Given the description of an element on the screen output the (x, y) to click on. 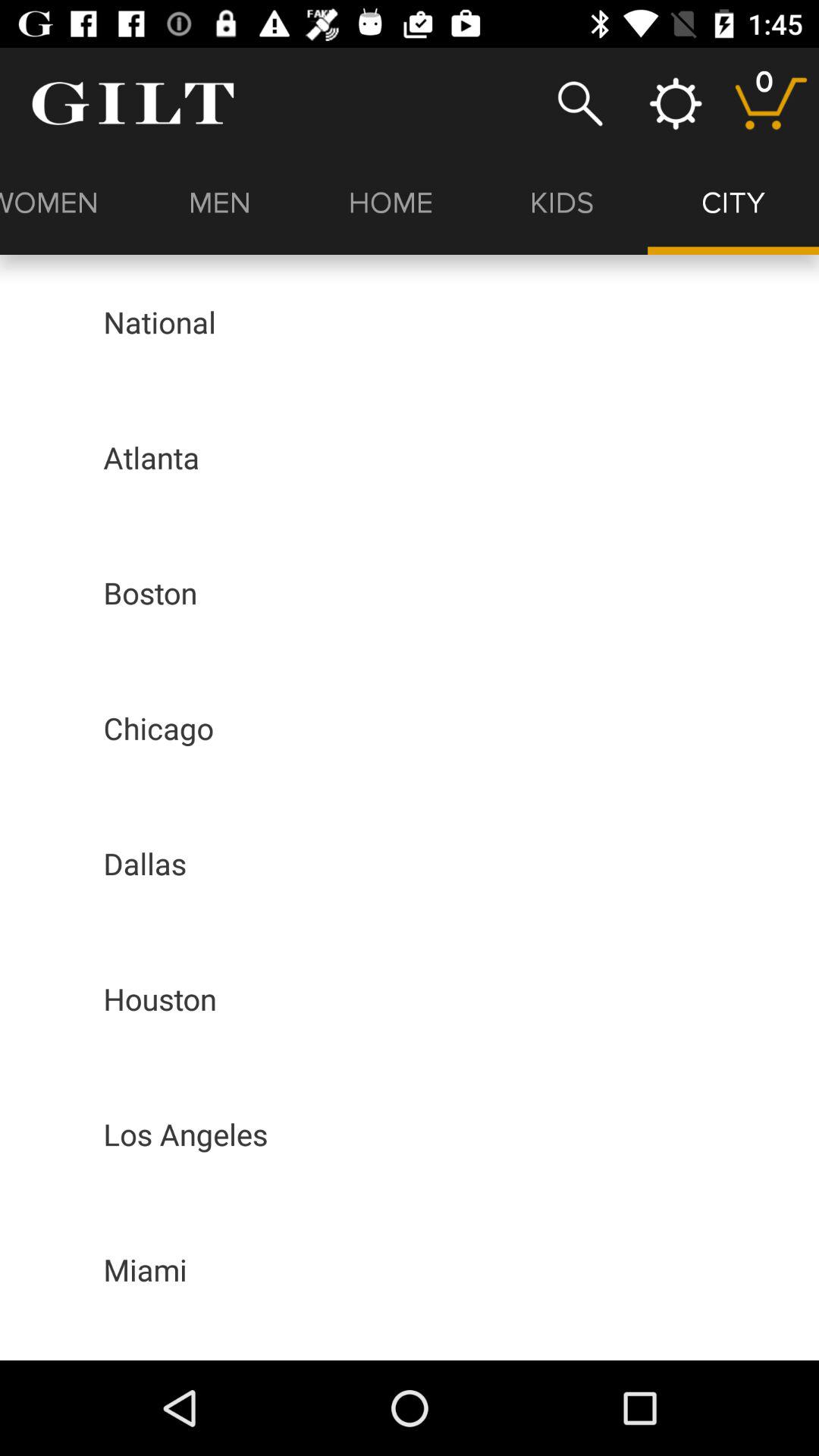
click icon above houston app (144, 863)
